Given the description of an element on the screen output the (x, y) to click on. 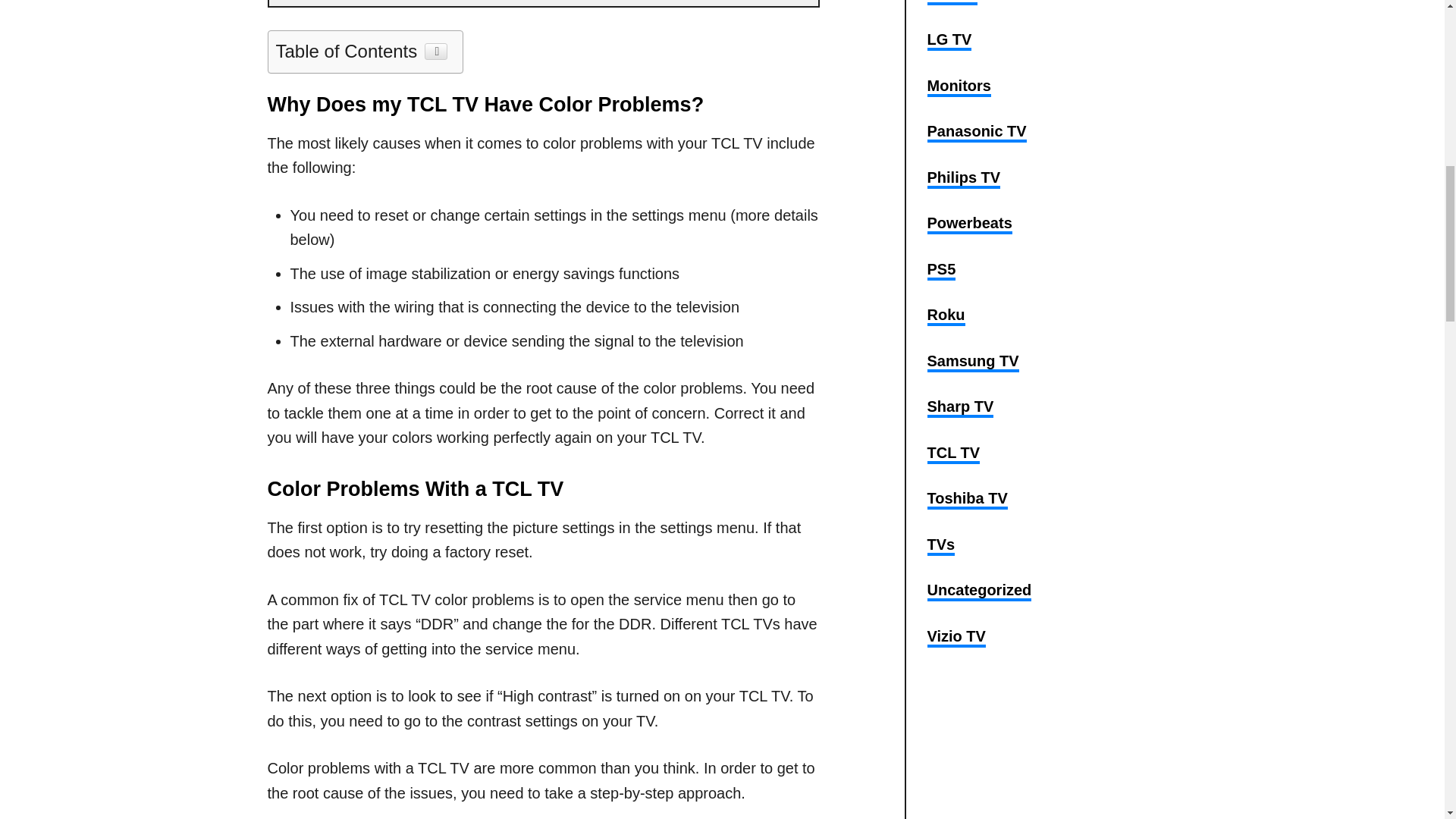
iPhone (951, 2)
